Given the description of an element on the screen output the (x, y) to click on. 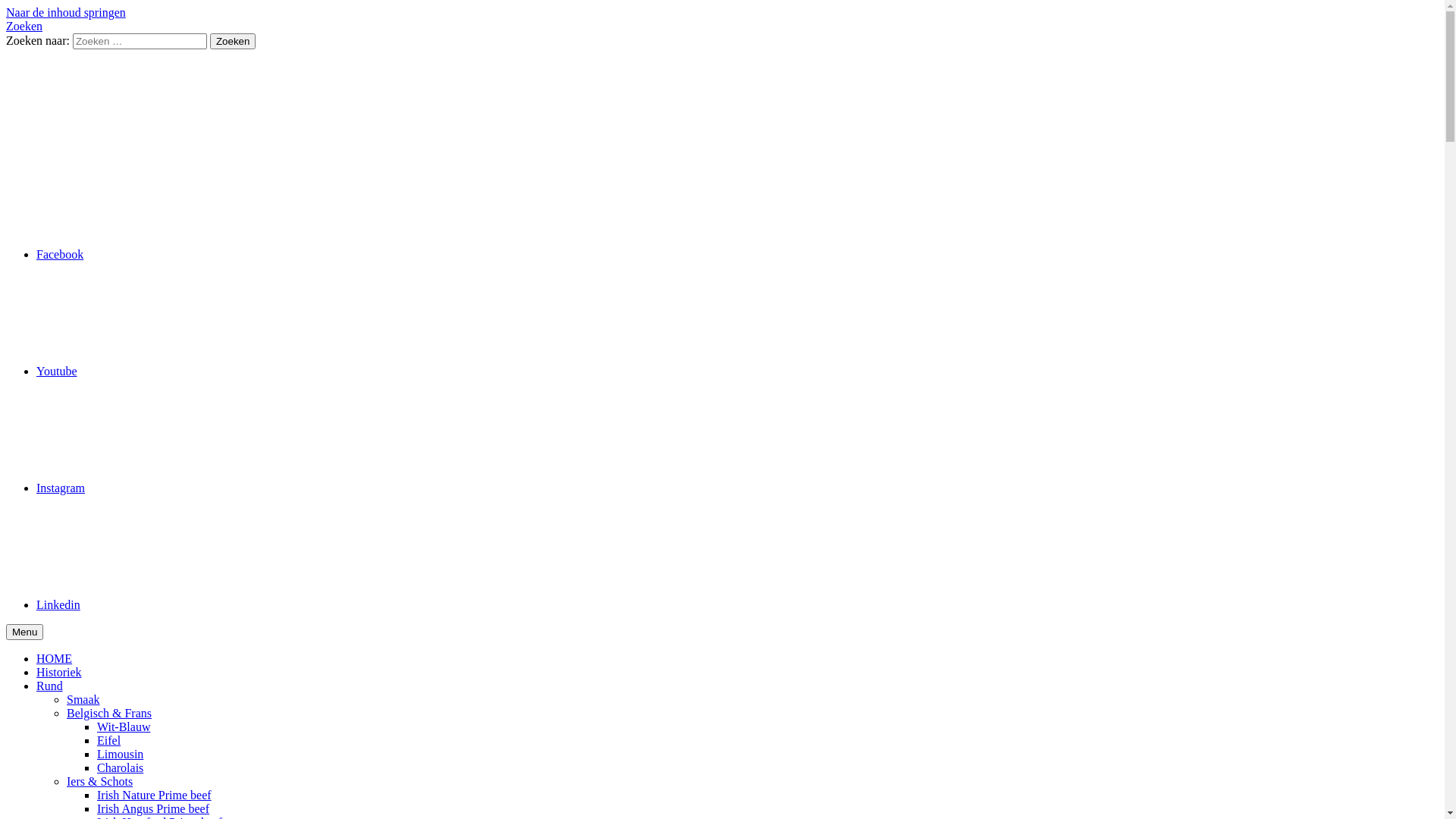
Iers & Schots Element type: text (99, 781)
Menu Element type: text (24, 632)
Facebook Element type: text (173, 253)
Zoeken Element type: text (24, 25)
HOME Element type: text (54, 658)
Rund Element type: text (49, 685)
Charolais Element type: text (120, 767)
Historiek Element type: text (58, 671)
Smaak Element type: text (83, 699)
Instagram Element type: text (174, 487)
Youtube Element type: text (170, 370)
Wit-Blauw Element type: text (123, 726)
Limousin Element type: text (120, 753)
Eifel Element type: text (108, 740)
Belgisch & Frans Element type: text (108, 712)
Irish Nature Prime beef Element type: text (154, 794)
Zoeken Element type: text (232, 41)
Naar de inhoud springen Element type: text (65, 12)
Irish Angus Prime beef Element type: text (153, 808)
Linkedin Element type: text (171, 604)
